Given the description of an element on the screen output the (x, y) to click on. 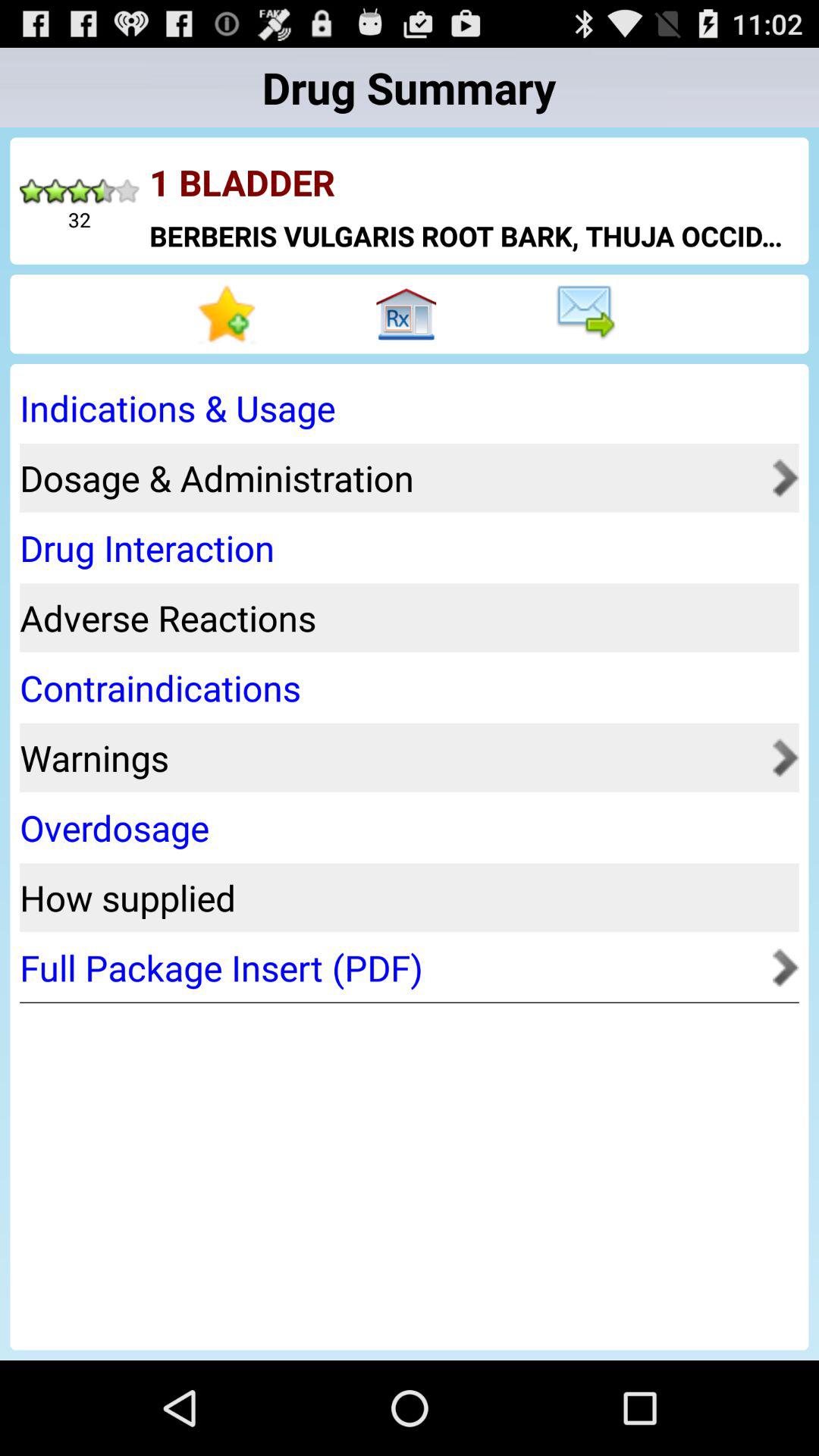
tap icon above adverse reactions icon (403, 547)
